Given the description of an element on the screen output the (x, y) to click on. 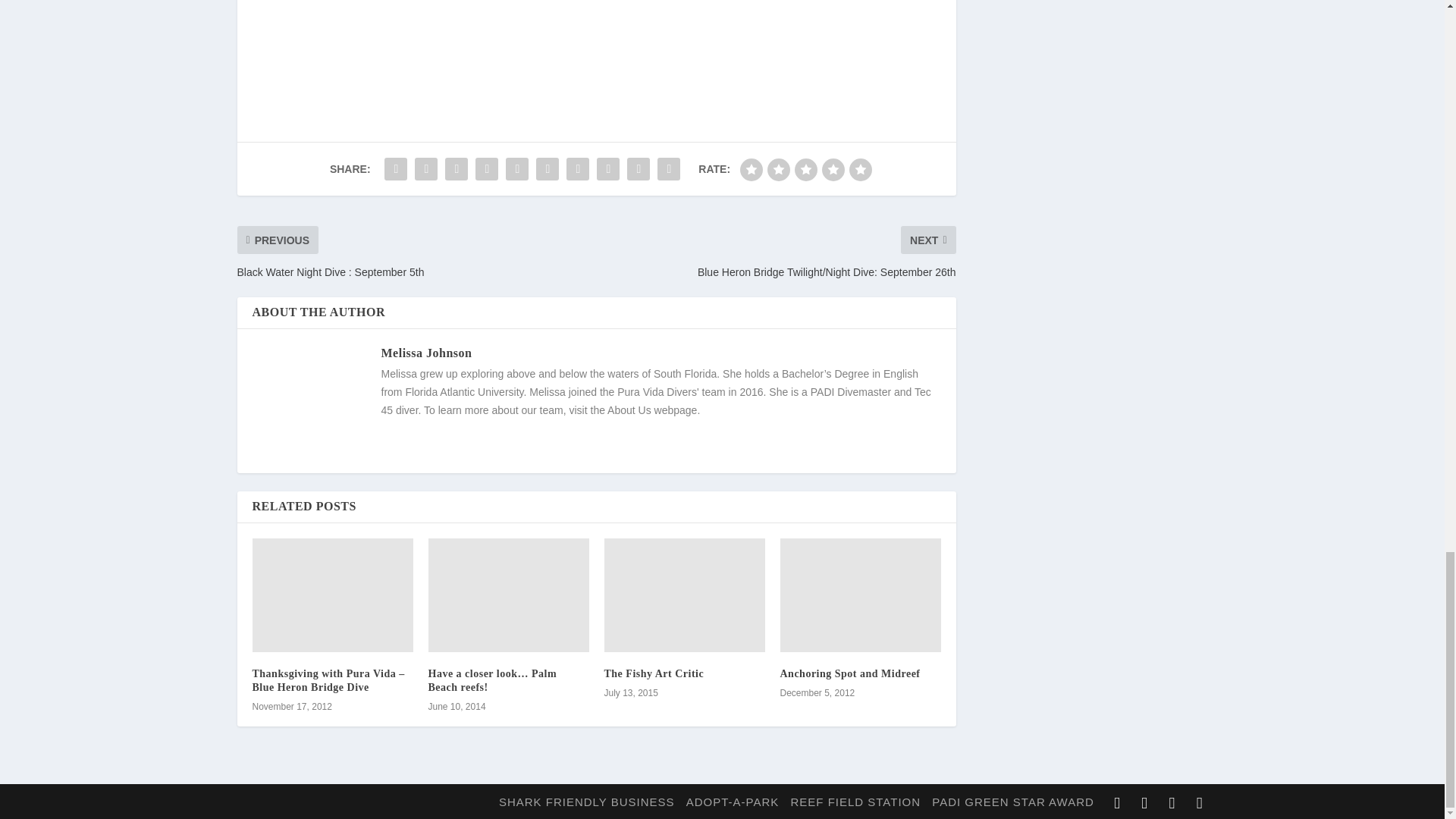
150819-101739-0037 (831, 24)
Share "Grouper Dives" via Facebook (395, 168)
150819-101820-0040 (518, 24)
150819-101806-0039 (673, 24)
150819-103041-0049 (360, 24)
Share "Grouper Dives" via Twitter (425, 168)
